Given the description of an element on the screen output the (x, y) to click on. 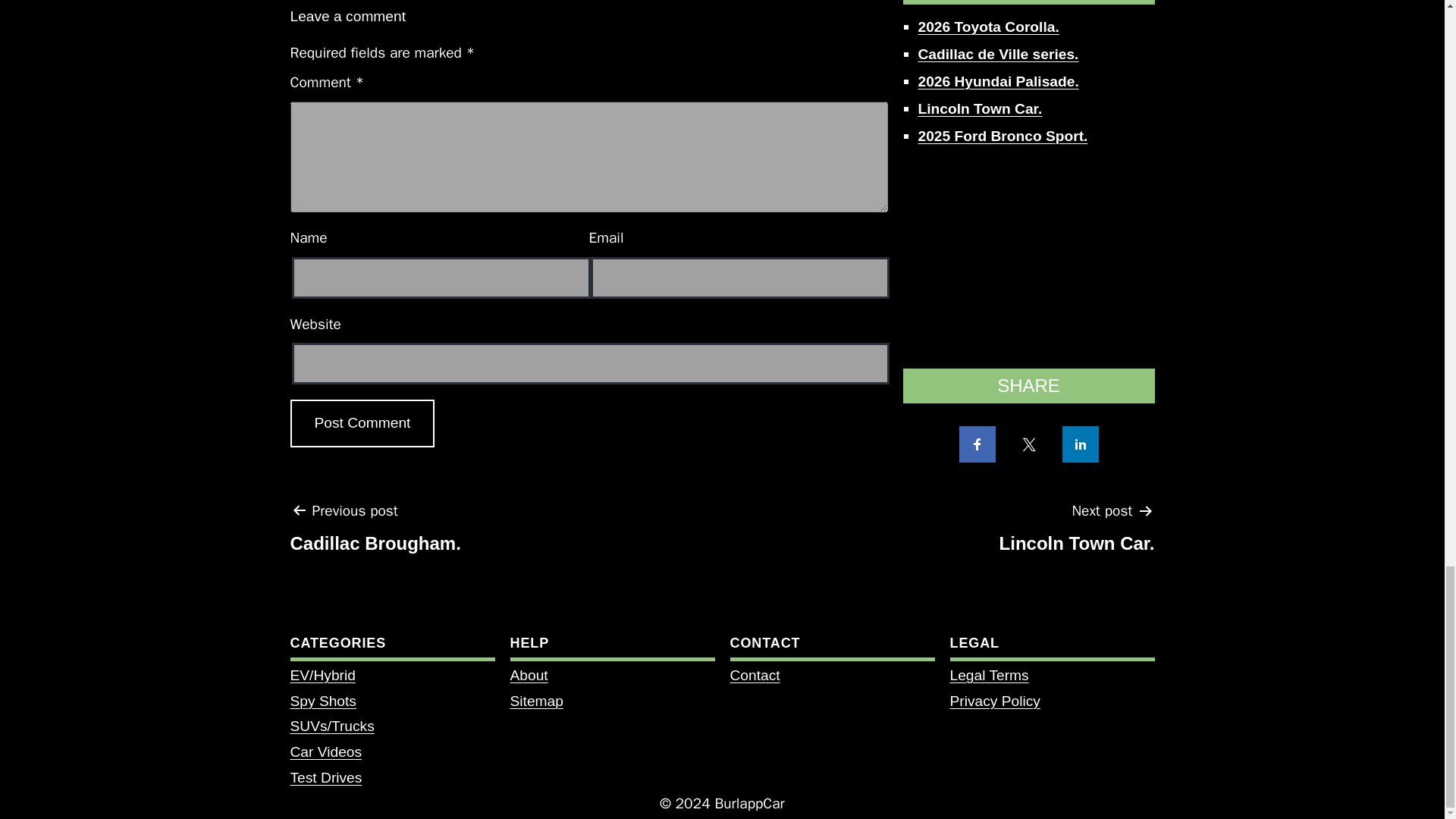
Contact (753, 675)
Test Drives (325, 777)
Post Comment (361, 423)
Privacy Policy (1076, 532)
Car Videos (994, 700)
About (325, 751)
Sitemap (374, 532)
Legal Terms (528, 675)
